Given the description of an element on the screen output the (x, y) to click on. 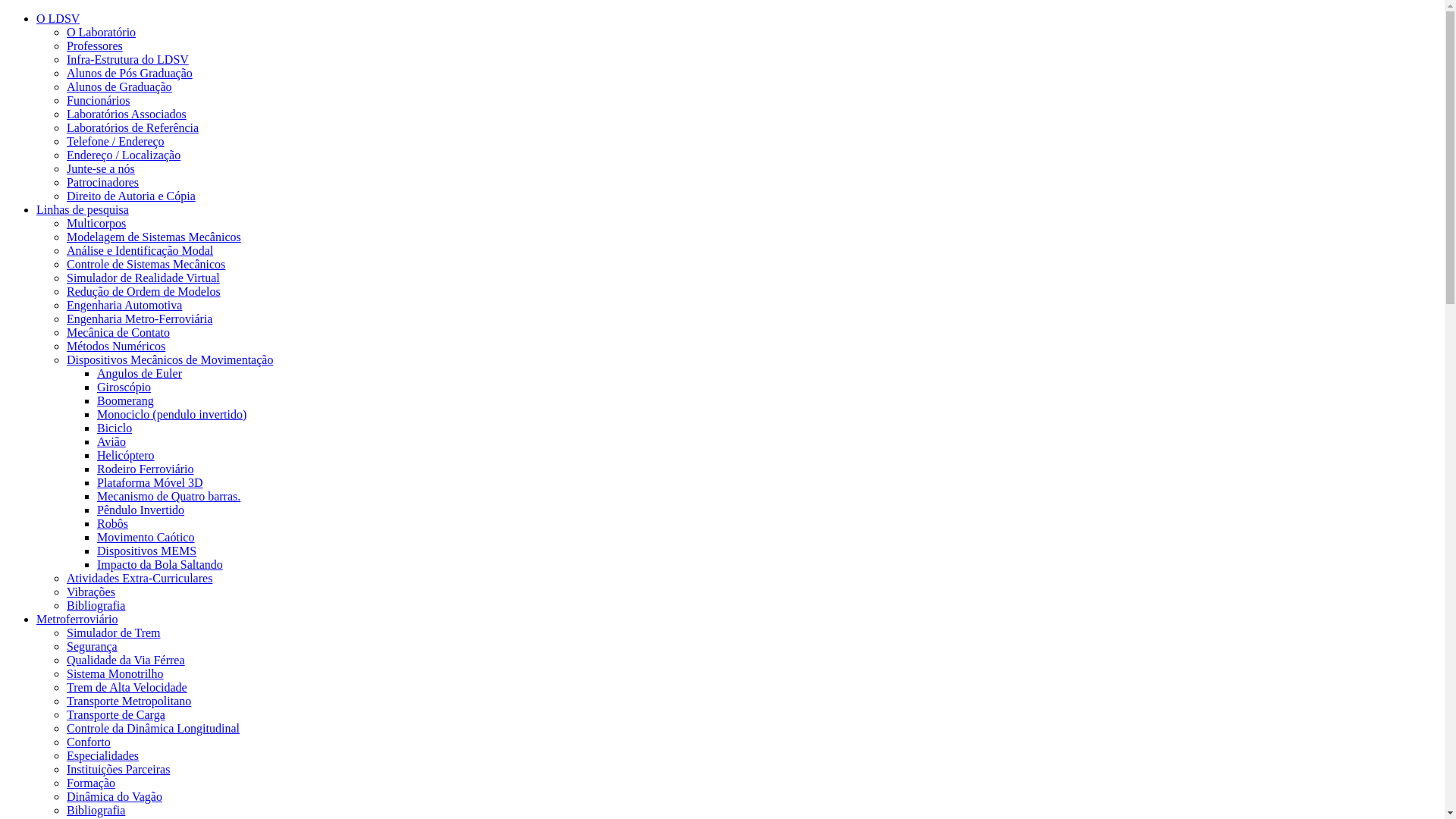
Bibliografia Element type: text (95, 809)
Sistema Monotrilho Element type: text (114, 673)
Atividades Extra-Curriculares Element type: text (139, 577)
Dispositivos MEMS Element type: text (146, 550)
Especialidades Element type: text (102, 755)
Monociclo (pendulo invertido) Element type: text (171, 413)
Simulador de Trem Element type: text (113, 632)
Bibliografia Element type: text (95, 605)
Angulos de Euler Element type: text (139, 373)
Linhas de pesquisa Element type: text (82, 209)
Trem de Alta Velocidade Element type: text (126, 686)
O LDSV Element type: text (57, 18)
Impacto da Bola Saltando Element type: text (159, 564)
Biciclo Element type: text (114, 427)
Engenharia Automotiva Element type: text (124, 304)
Infra-Estrutura do LDSV Element type: text (127, 59)
Multicorpos Element type: text (95, 222)
Conforto Element type: text (88, 741)
Patrocinadores Element type: text (102, 181)
Transporte de Carga Element type: text (115, 714)
Mecanismo de Quatro barras. Element type: text (168, 495)
Transporte Metropolitano Element type: text (128, 700)
Professores Element type: text (94, 45)
Simulador de Realidade Virtual Element type: text (142, 277)
Boomerang Element type: text (125, 400)
